Given the description of an element on the screen output the (x, y) to click on. 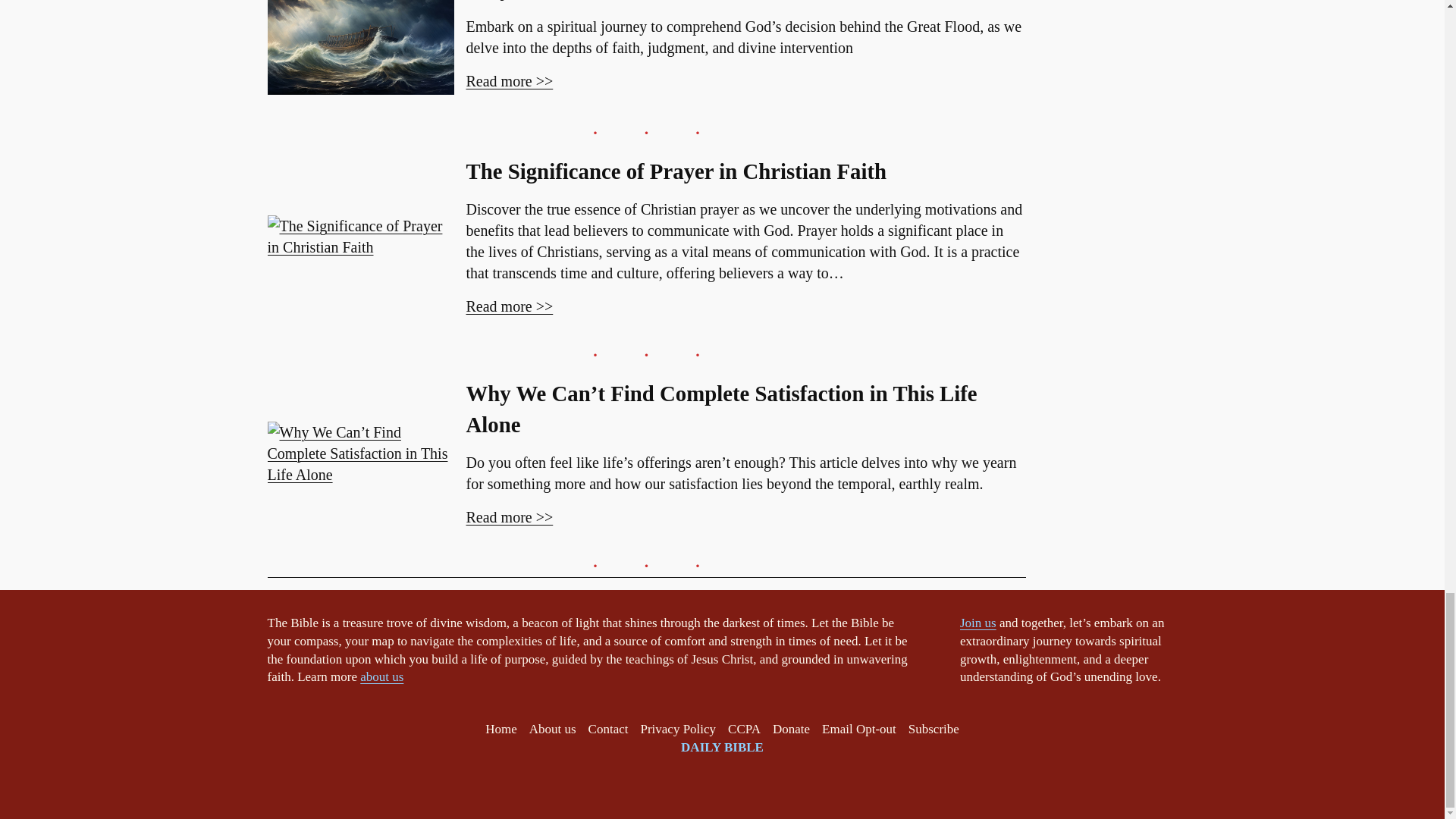
About us (552, 729)
Donate (791, 729)
CCPA (744, 729)
Join us (977, 622)
Home (500, 729)
about us (381, 676)
Contact (608, 729)
The Significance of Prayer in Christian Faith (675, 171)
Why Did God Flood the World? (614, 2)
Subscribe (933, 729)
